Given the description of an element on the screen output the (x, y) to click on. 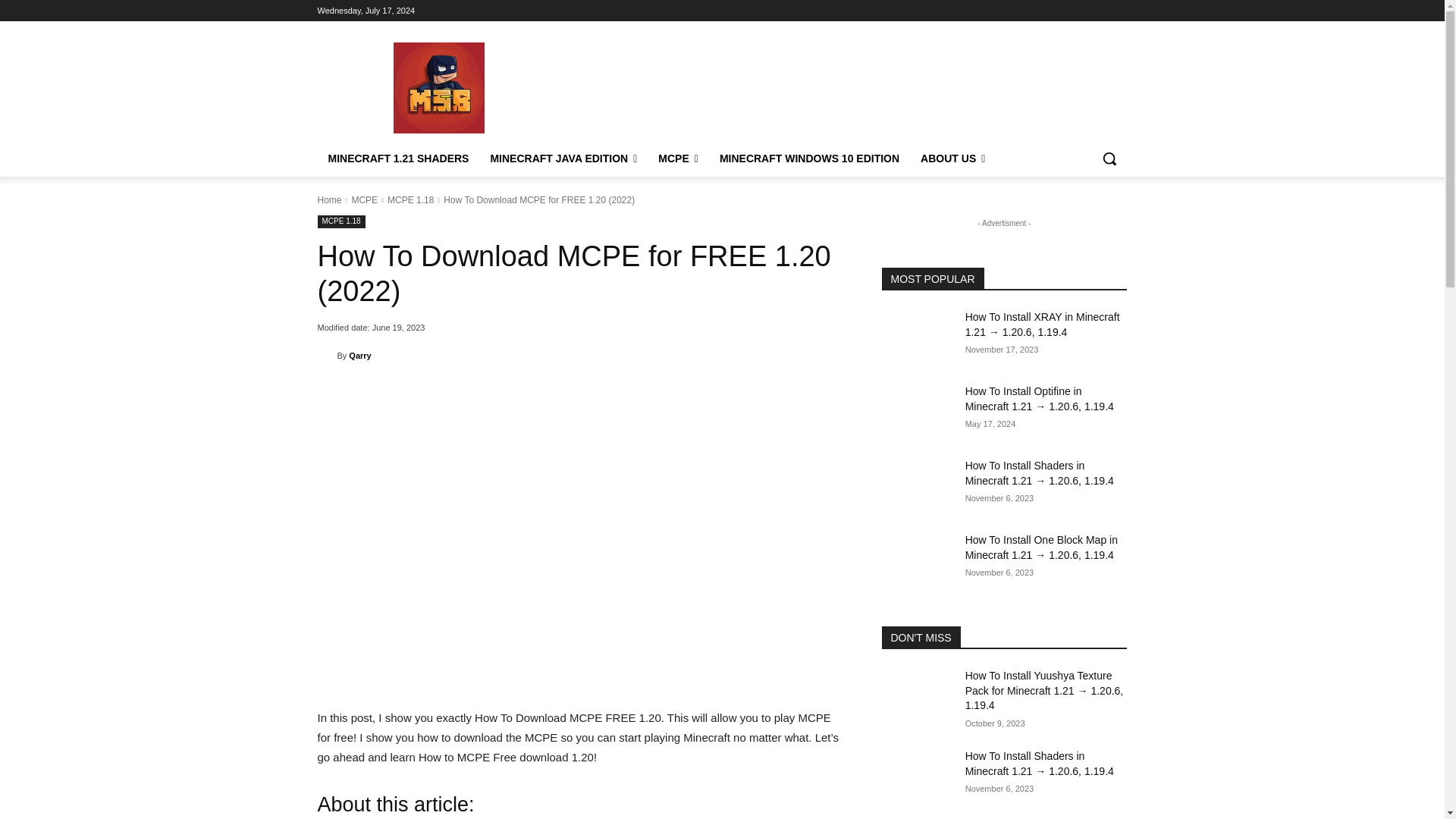
Home (328, 199)
MINECRAFT 1.21 SHADERS (398, 158)
Qarry (326, 355)
MCPE 1.18 (410, 199)
View all posts in MCPE (363, 199)
MCPE (678, 158)
ABOUT US (952, 158)
MINECRAFT JAVA EDITION (563, 158)
Qarry (360, 354)
MINECRAFT WINDOWS 10 EDITION (809, 158)
MCPE (363, 199)
View all posts in MCPE 1.18 (410, 199)
MCPE 1.18 (341, 221)
